Given the description of an element on the screen output the (x, y) to click on. 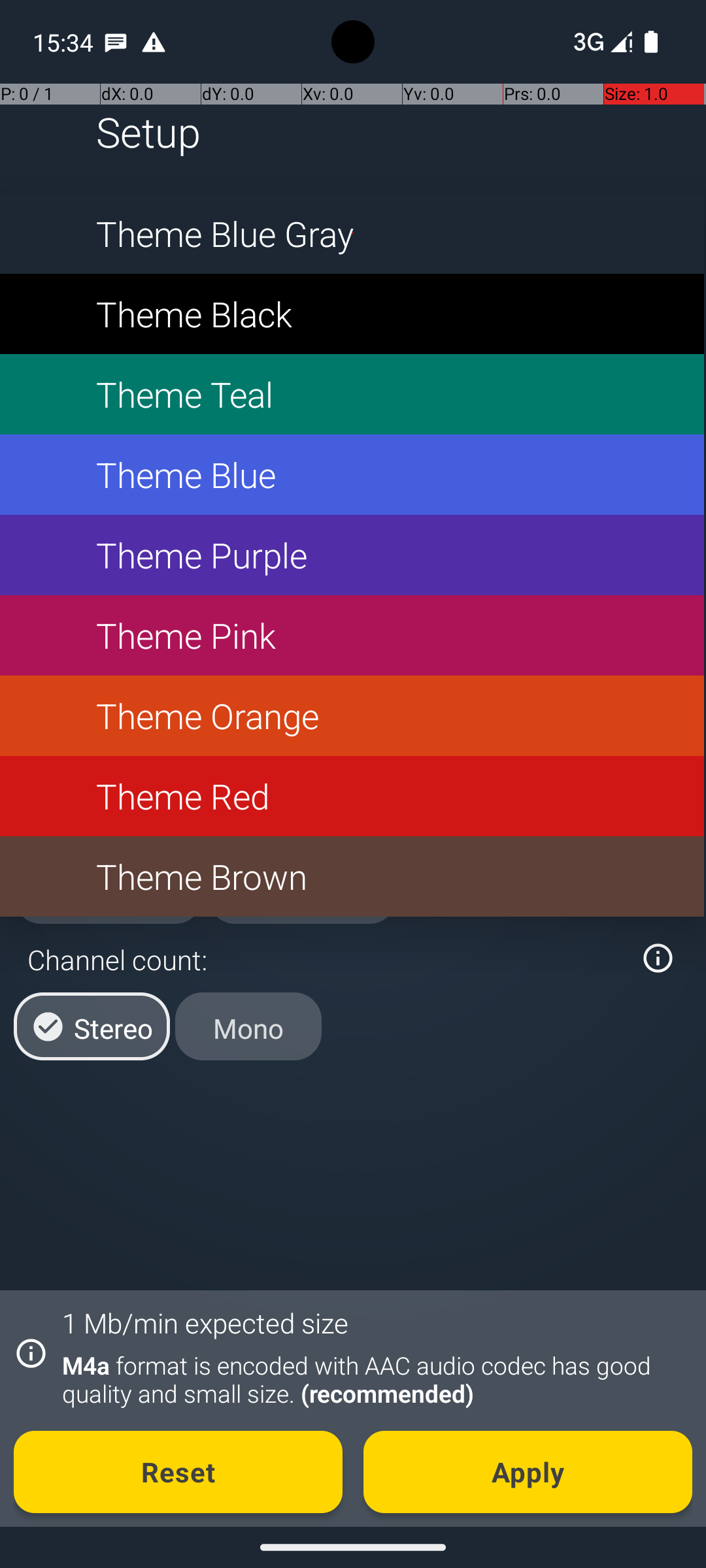
Theme Blue Gray Element type: android.widget.TextView (352, 233)
Theme Black Element type: android.widget.TextView (352, 313)
Theme Teal Element type: android.widget.TextView (352, 394)
Theme Blue Element type: android.widget.TextView (352, 474)
Theme Purple Element type: android.widget.TextView (352, 554)
Theme Pink Element type: android.widget.TextView (352, 635)
Theme Orange Element type: android.widget.TextView (352, 715)
Theme Red Element type: android.widget.TextView (352, 795)
Theme Brown Element type: android.widget.TextView (352, 876)
15:34 Element type: android.widget.TextView (64, 41)
SMS Messenger notification:  Element type: android.widget.ImageView (115, 41)
Android System notification: Data warning Element type: android.widget.ImageView (153, 41)
Phone three bars. Element type: android.widget.FrameLayout (600, 41)
Battery 100 percent. Element type: android.widget.LinearLayout (650, 41)
No internet Element type: android.widget.ImageView (587, 41)
